Given the description of an element on the screen output the (x, y) to click on. 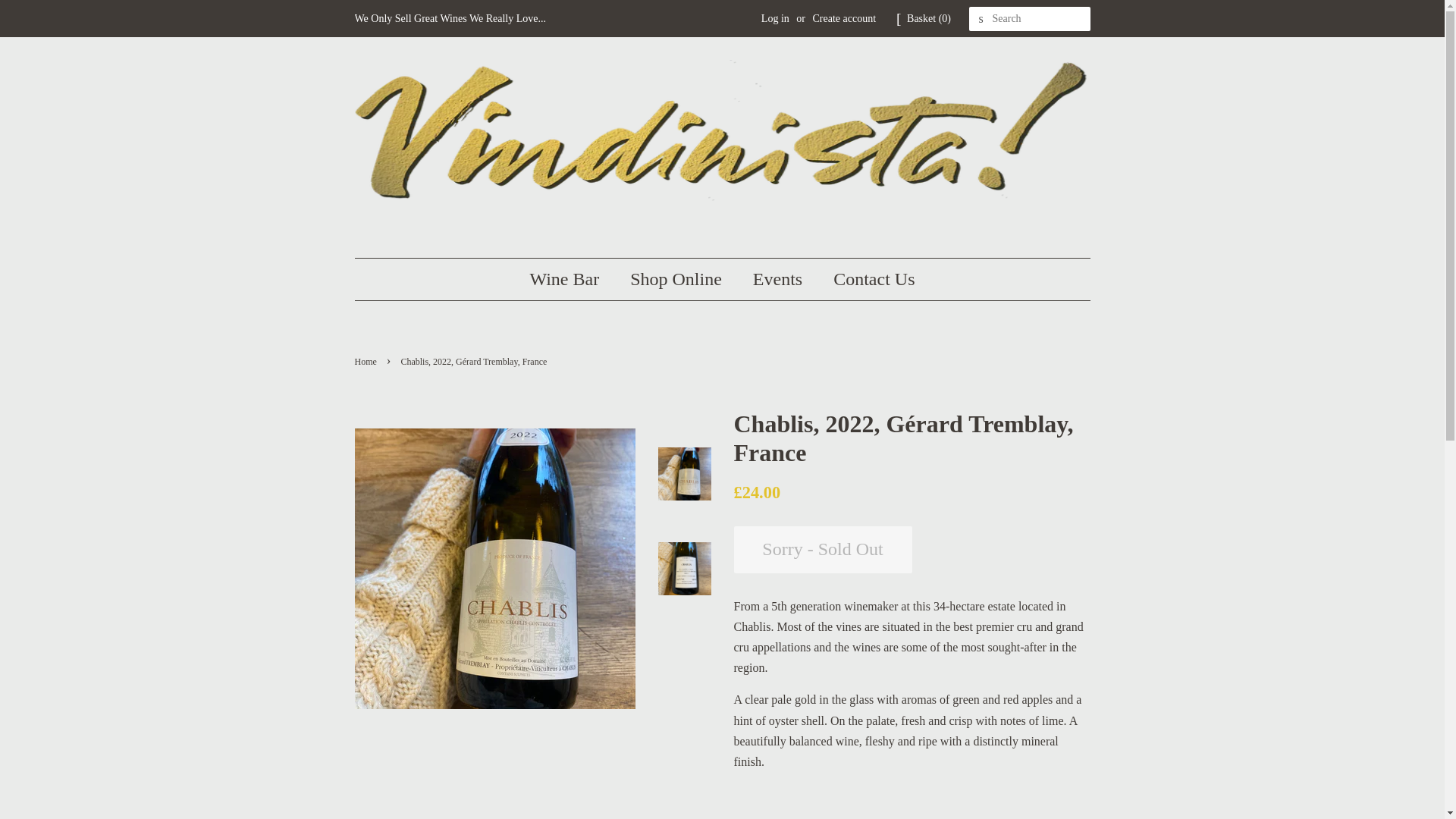
Events (778, 279)
Wine Bar (571, 279)
Sorry - Sold Out (822, 549)
Log in (775, 18)
Contact Us (868, 279)
Shop Online (677, 279)
Home (367, 361)
We Only Sell Great Wines We Really Love... (451, 18)
Create account (844, 18)
Back to the homepage (367, 361)
Search (980, 18)
